Given the description of an element on the screen output the (x, y) to click on. 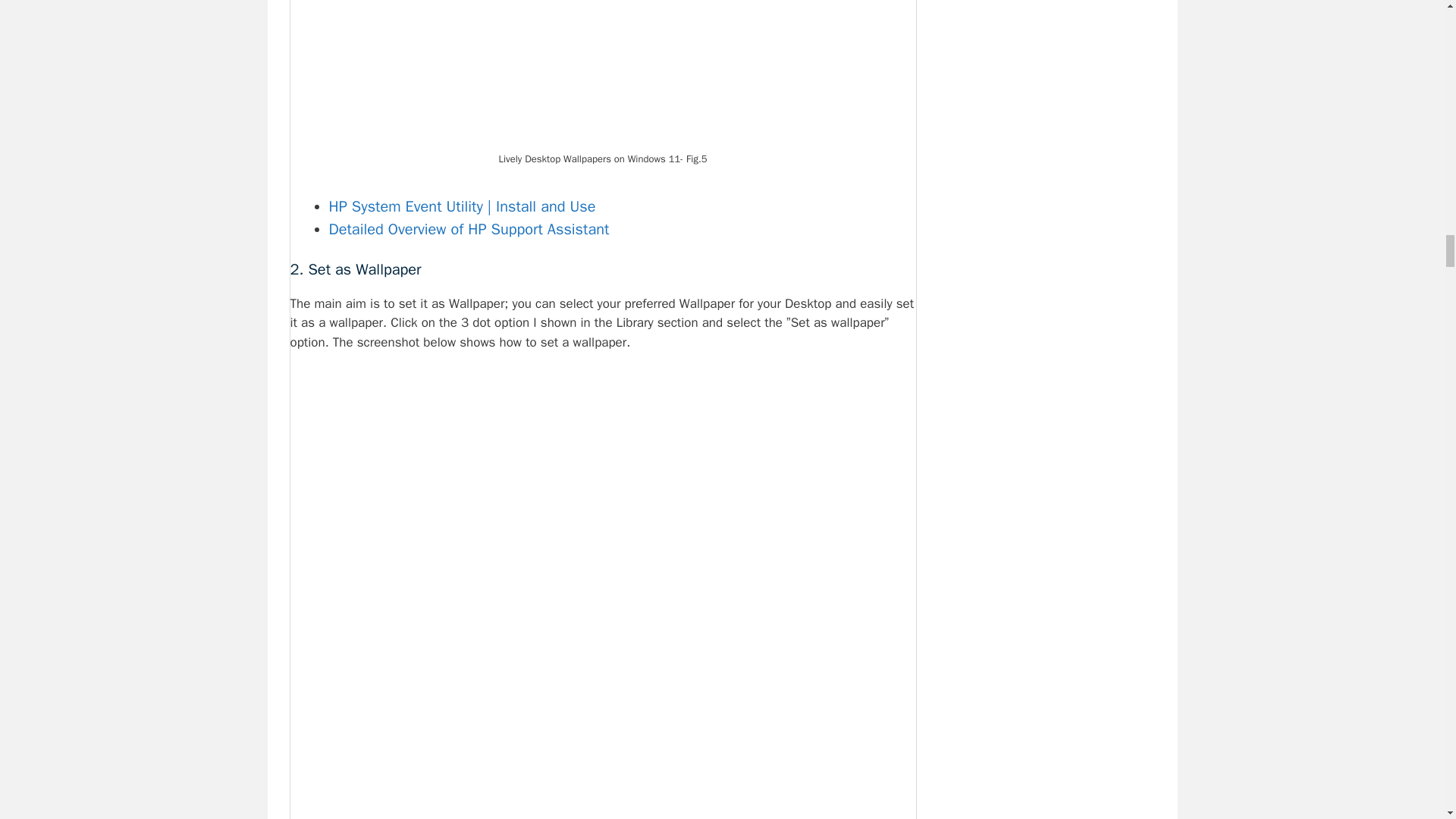
Lively Desktop Wallpapers on Windows 11 6 (603, 73)
Detailed Overview of HP Support Assistant (469, 229)
